Given the description of an element on the screen output the (x, y) to click on. 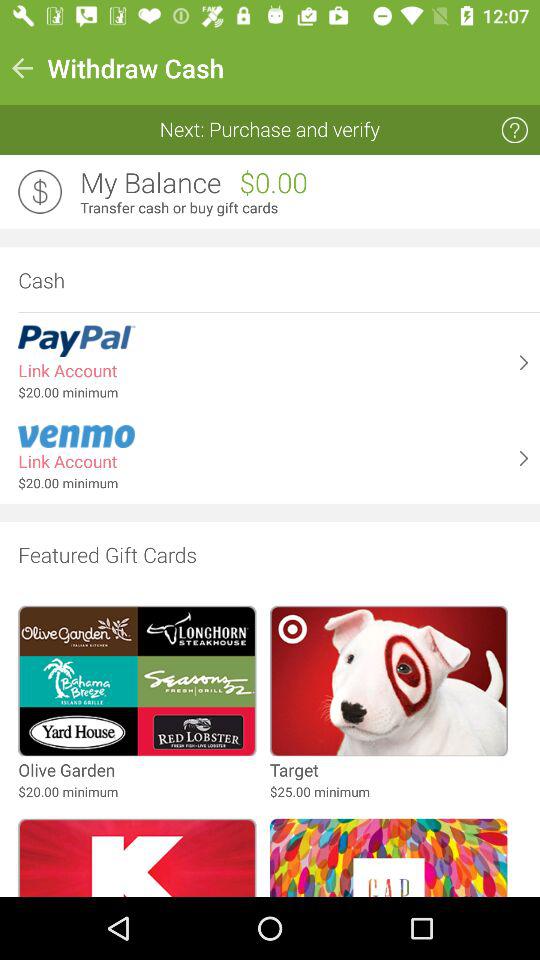
launch the item next to $0.00 (150, 183)
